Given the description of an element on the screen output the (x, y) to click on. 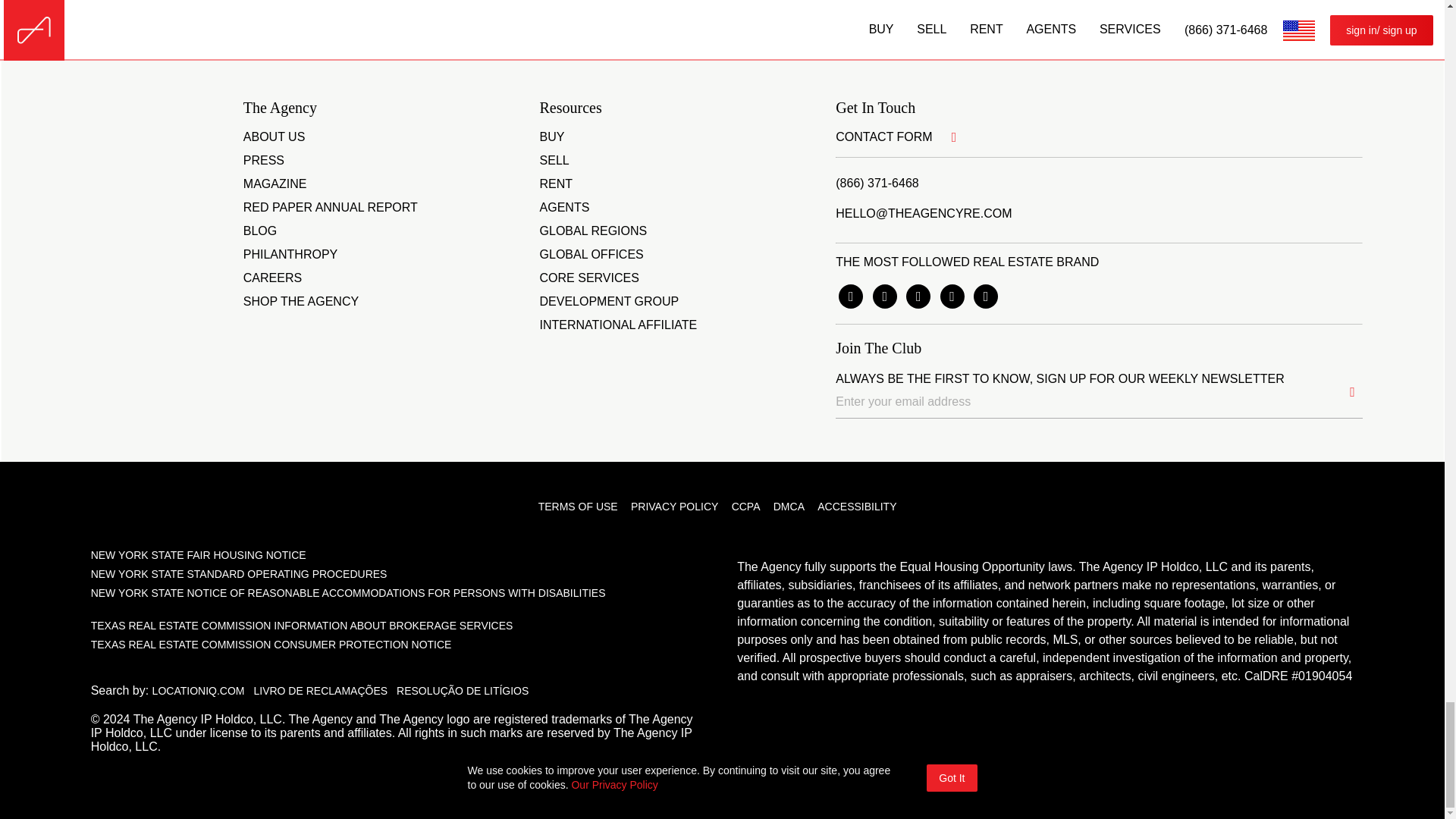
RED PAPER ANNUAL REPORT (330, 207)
SHOP THE AGENCY (300, 301)
BLOG (259, 231)
MAGAZINE (275, 184)
PRESS (263, 160)
BUY (552, 137)
CAREERS (272, 278)
ABOUT US (274, 137)
PHILANTHROPY (290, 255)
Contact Information (704, 11)
